Given the description of an element on the screen output the (x, y) to click on. 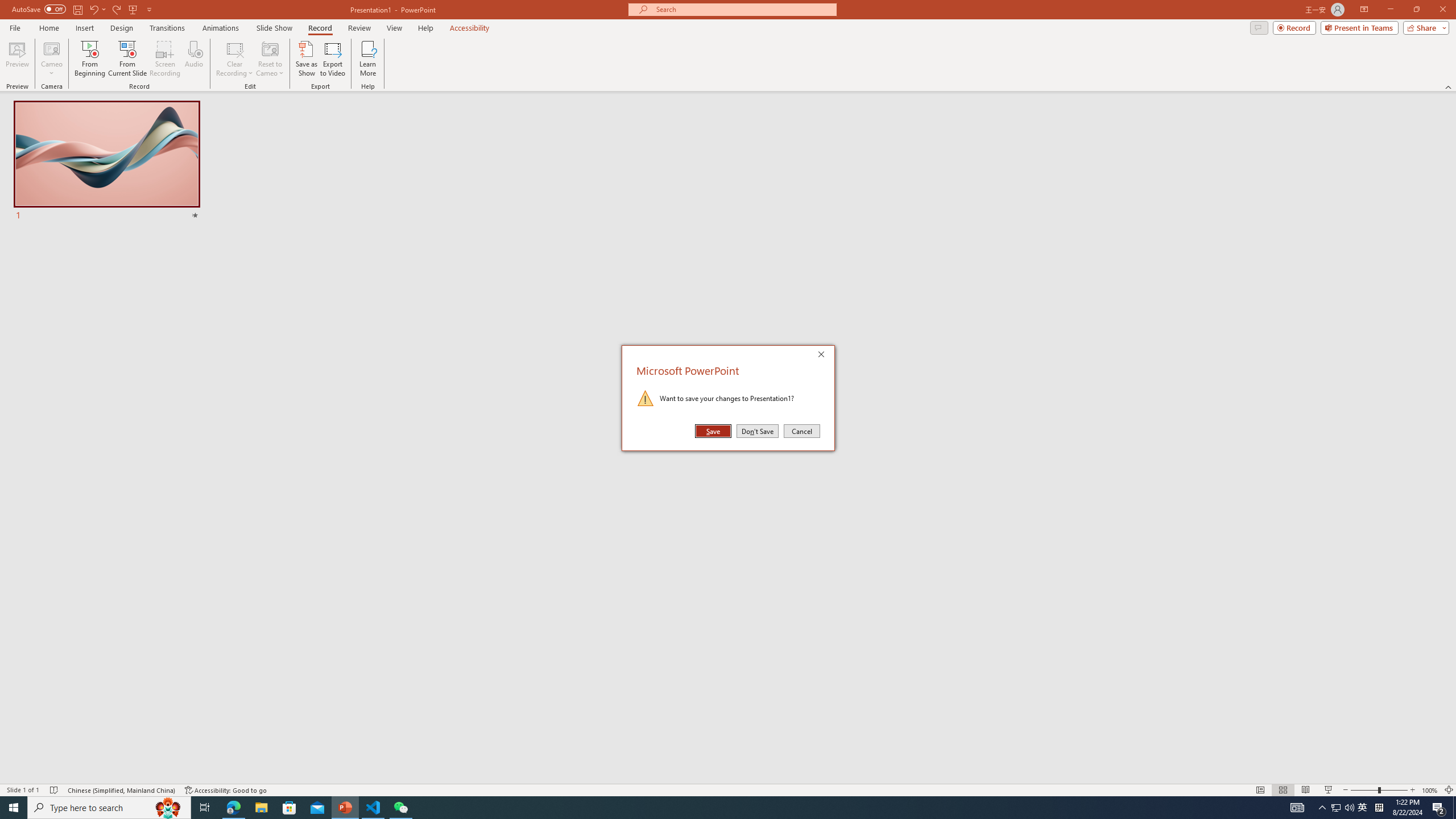
Accessibility Checker Accessibility: Good to go (226, 790)
From Beginning... (89, 58)
Learn More (368, 58)
Zoom 100% (1430, 790)
Save as Show (306, 58)
Don't Save (757, 431)
Audio (193, 58)
